Given the description of an element on the screen output the (x, y) to click on. 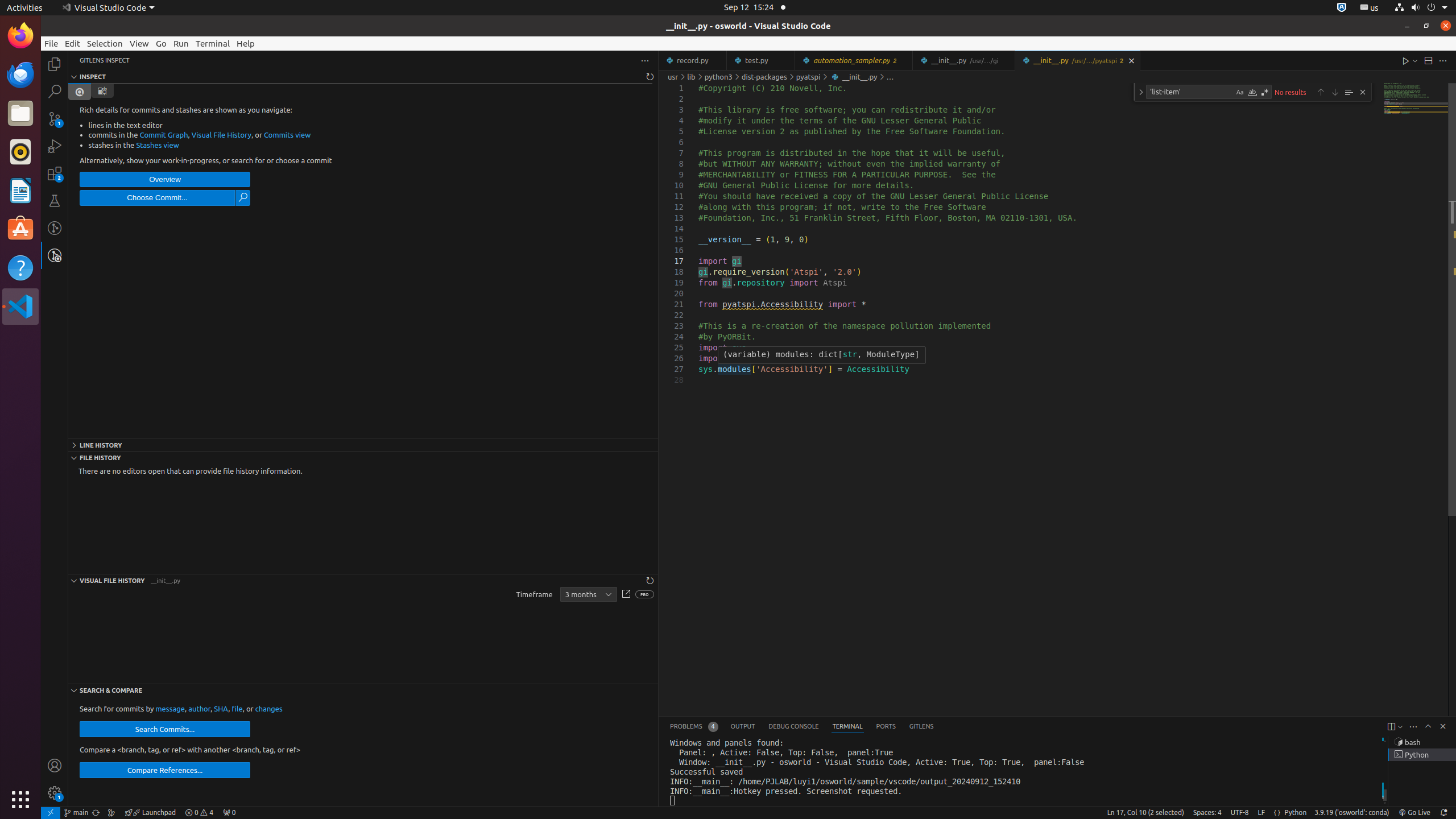
Source Control (Ctrl+Shift+G G) - 1 pending changes Source Control (Ctrl+Shift+G G) - 1 pending changes Element type: page-tab (54, 118)
Extensions (Ctrl+Shift+X) - 2 require restart Extensions (Ctrl+Shift+X) - 2 require restart Element type: page-tab (54, 173)
Run or Debug... Element type: push-button (1414, 60)
Manage - New Code update available. Element type: push-button (54, 792)
